Given the description of an element on the screen output the (x, y) to click on. 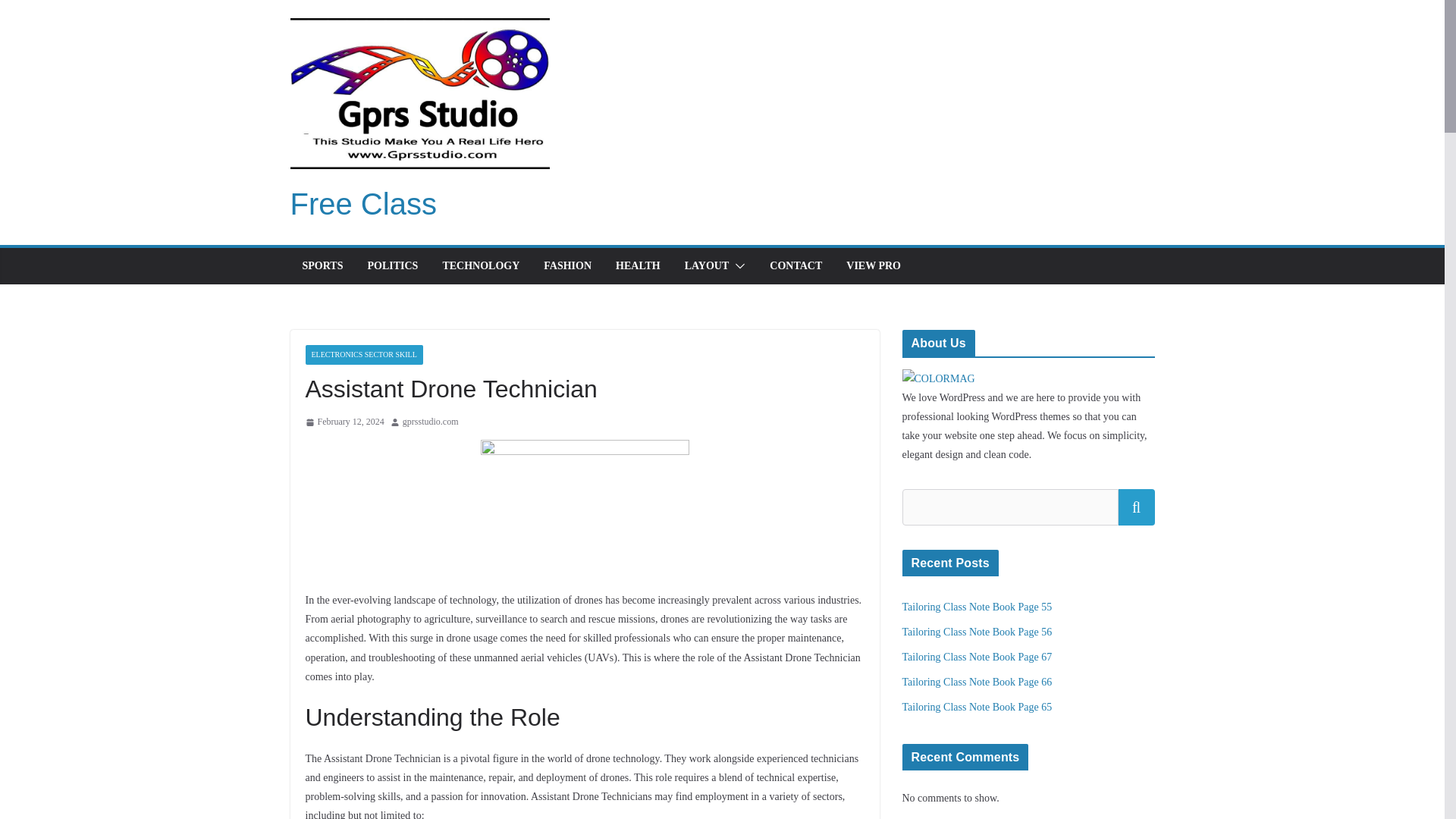
Tailoring Class Note Book Page 66 (977, 681)
gprsstudio.com (430, 422)
Tailoring Class Note Book Page 65 (977, 706)
TECHNOLOGY (480, 265)
CONTACT (796, 265)
COLORMAG (938, 378)
February 12, 2024 (344, 422)
6:29 am (344, 422)
Free Class (362, 203)
Tailoring Class Note Book Page 67 (977, 656)
Free Class (362, 203)
LAYOUT (706, 265)
Tailoring Class Note Book Page 56 (977, 632)
HEALTH (638, 265)
gprsstudio.com (430, 422)
